Given the description of an element on the screen output the (x, y) to click on. 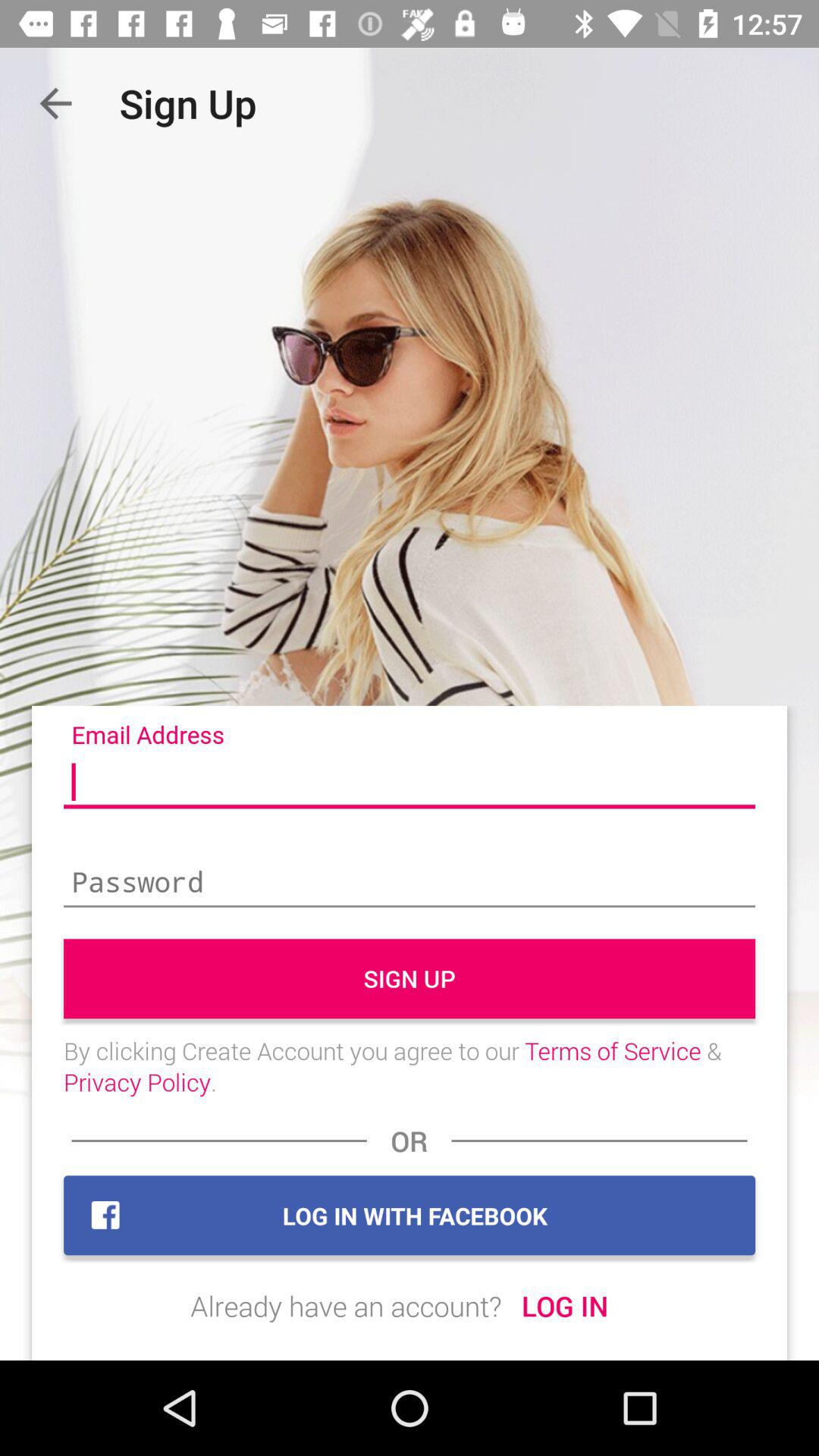
enter password (409, 883)
